Given the description of an element on the screen output the (x, y) to click on. 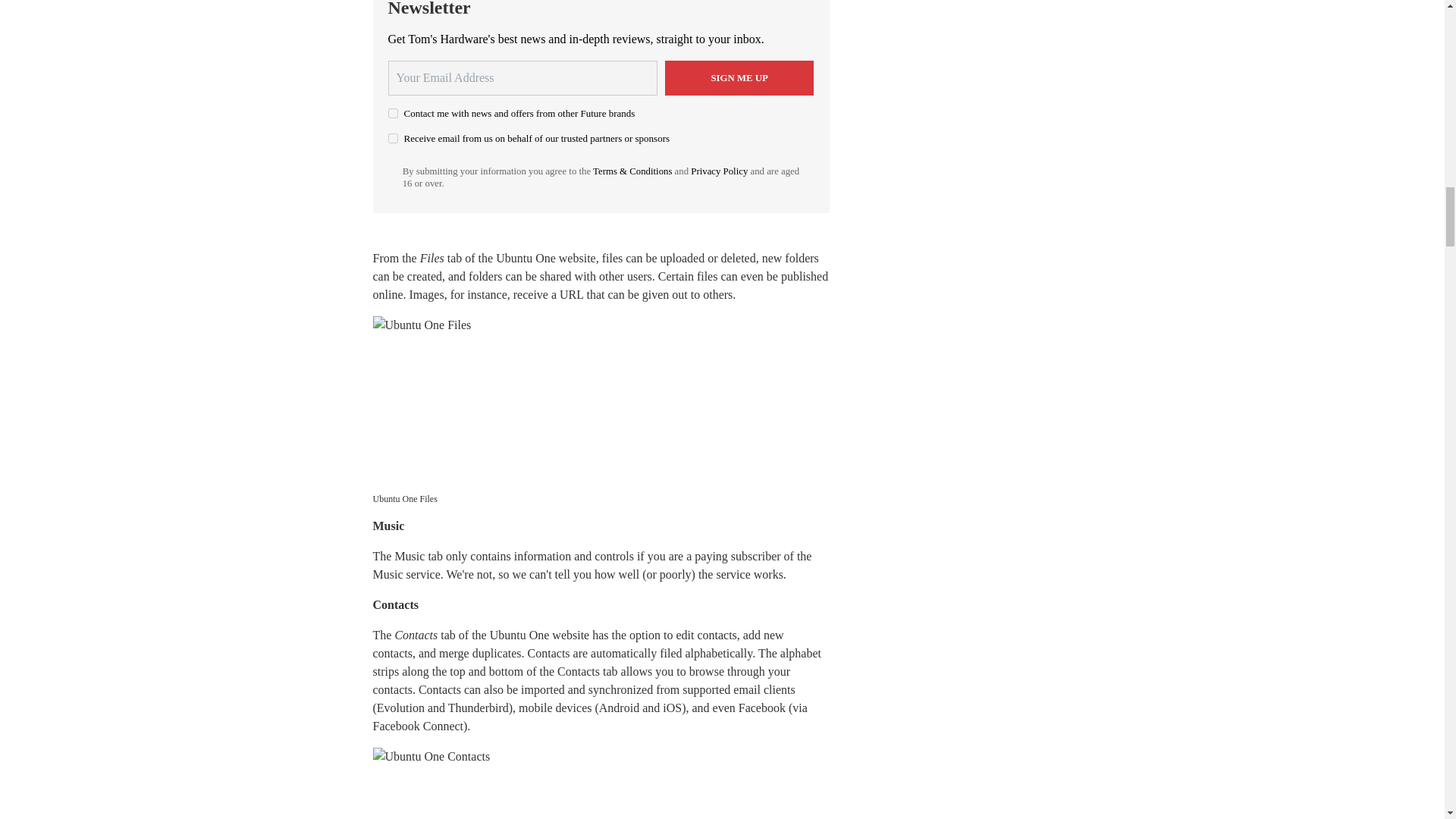
on (392, 112)
Sign me up (739, 77)
on (392, 138)
